Given the description of an element on the screen output the (x, y) to click on. 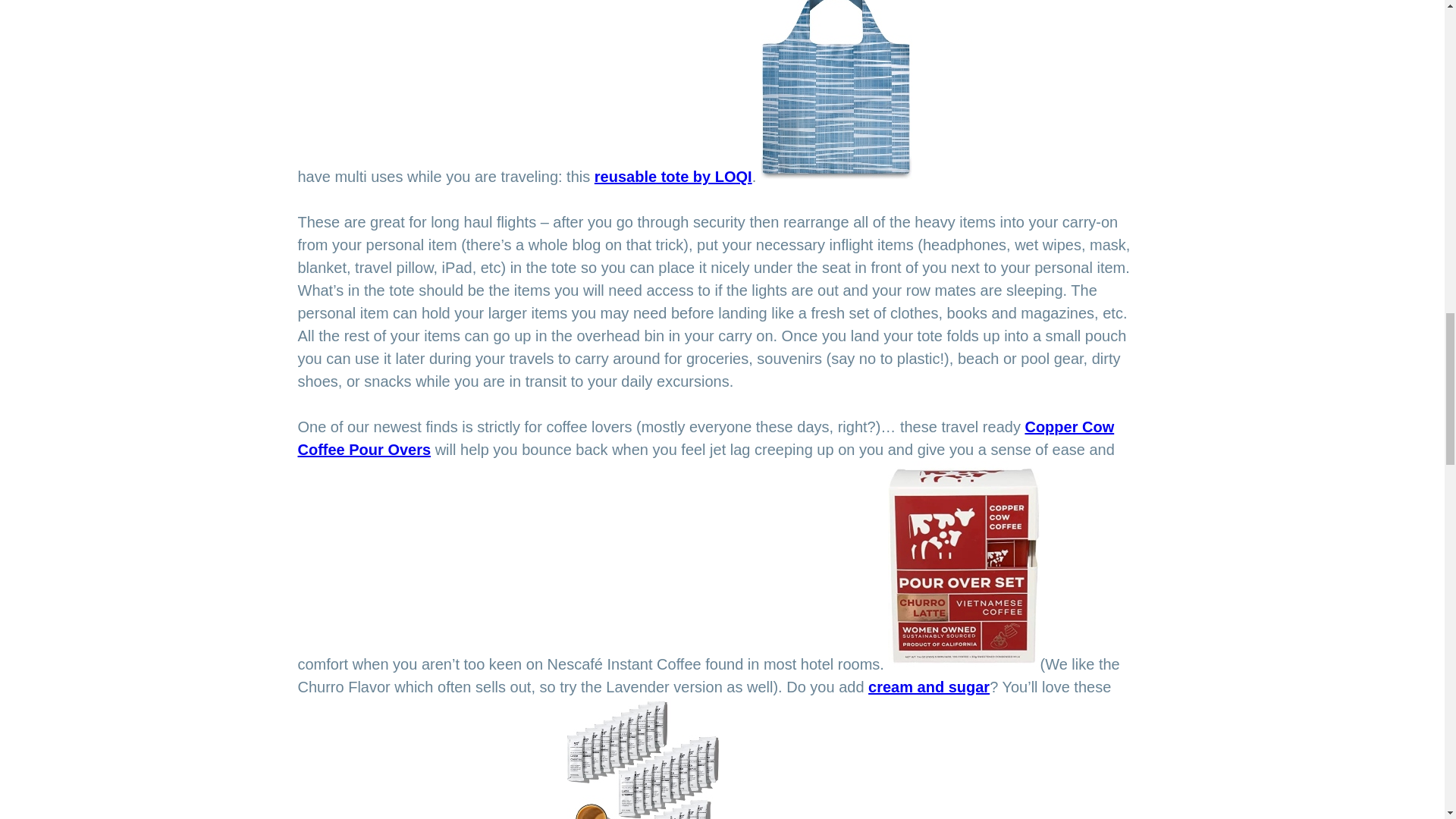
Copper Cow Coffee Pour Overs (705, 437)
cream and sugar (928, 686)
reusable tote by LOQI (673, 176)
